Given the description of an element on the screen output the (x, y) to click on. 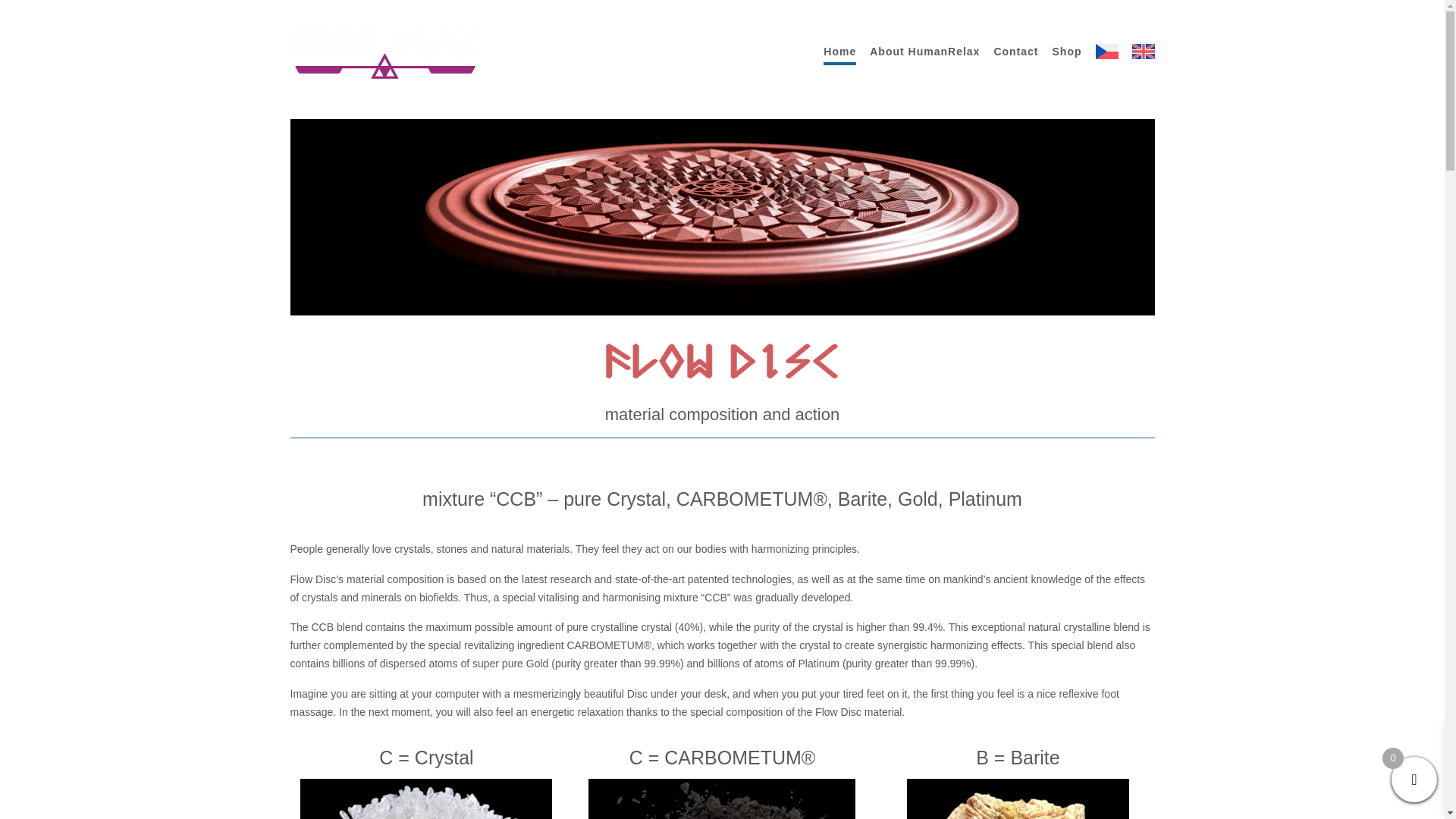
Home (840, 51)
About HumanRelax (924, 51)
Contact (1015, 51)
Shop (1066, 51)
